Given the description of an element on the screen output the (x, y) to click on. 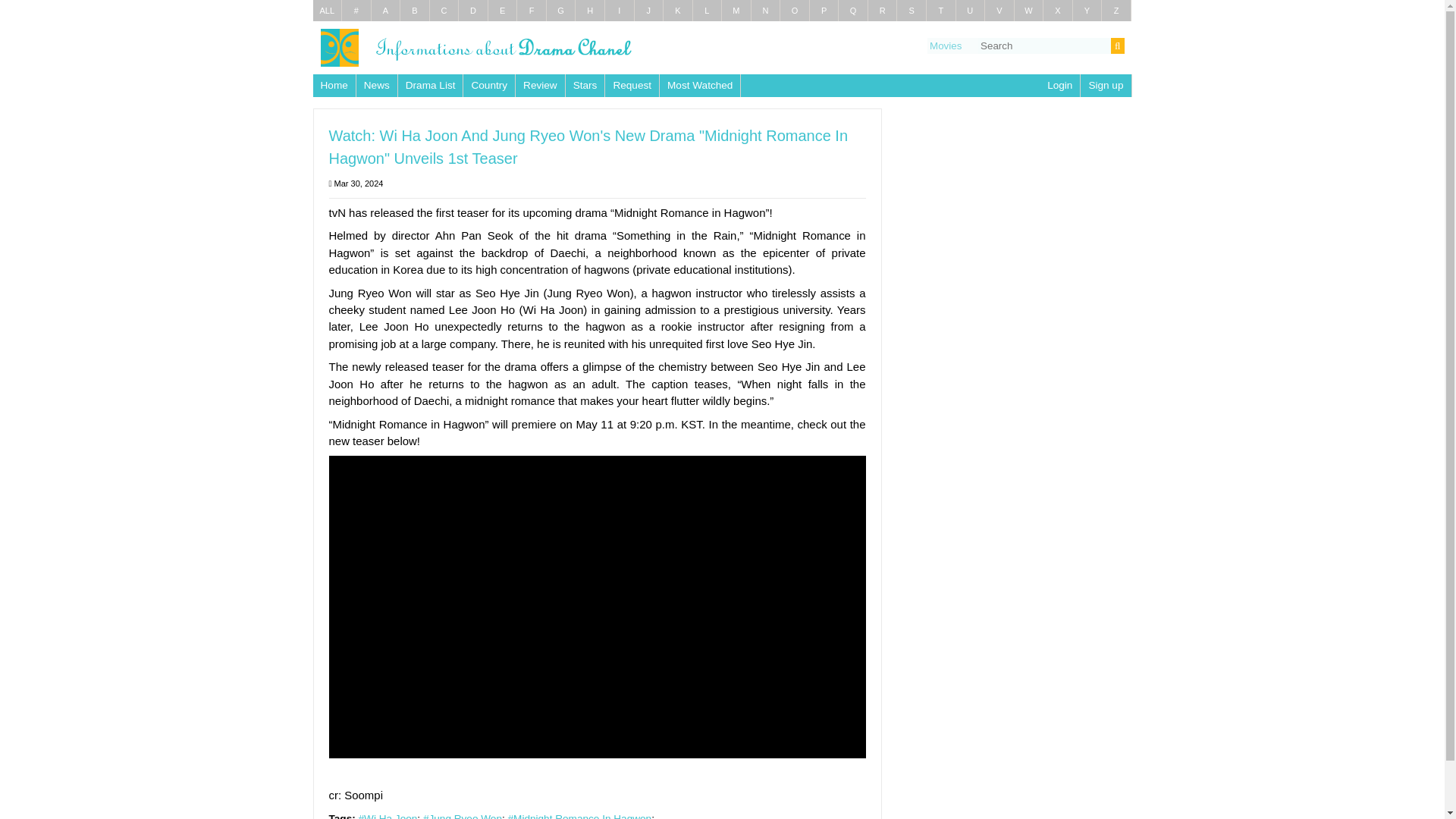
ALL (326, 10)
News (376, 84)
Home (334, 84)
Drama List (326, 10)
Drama List (430, 84)
